Given the description of an element on the screen output the (x, y) to click on. 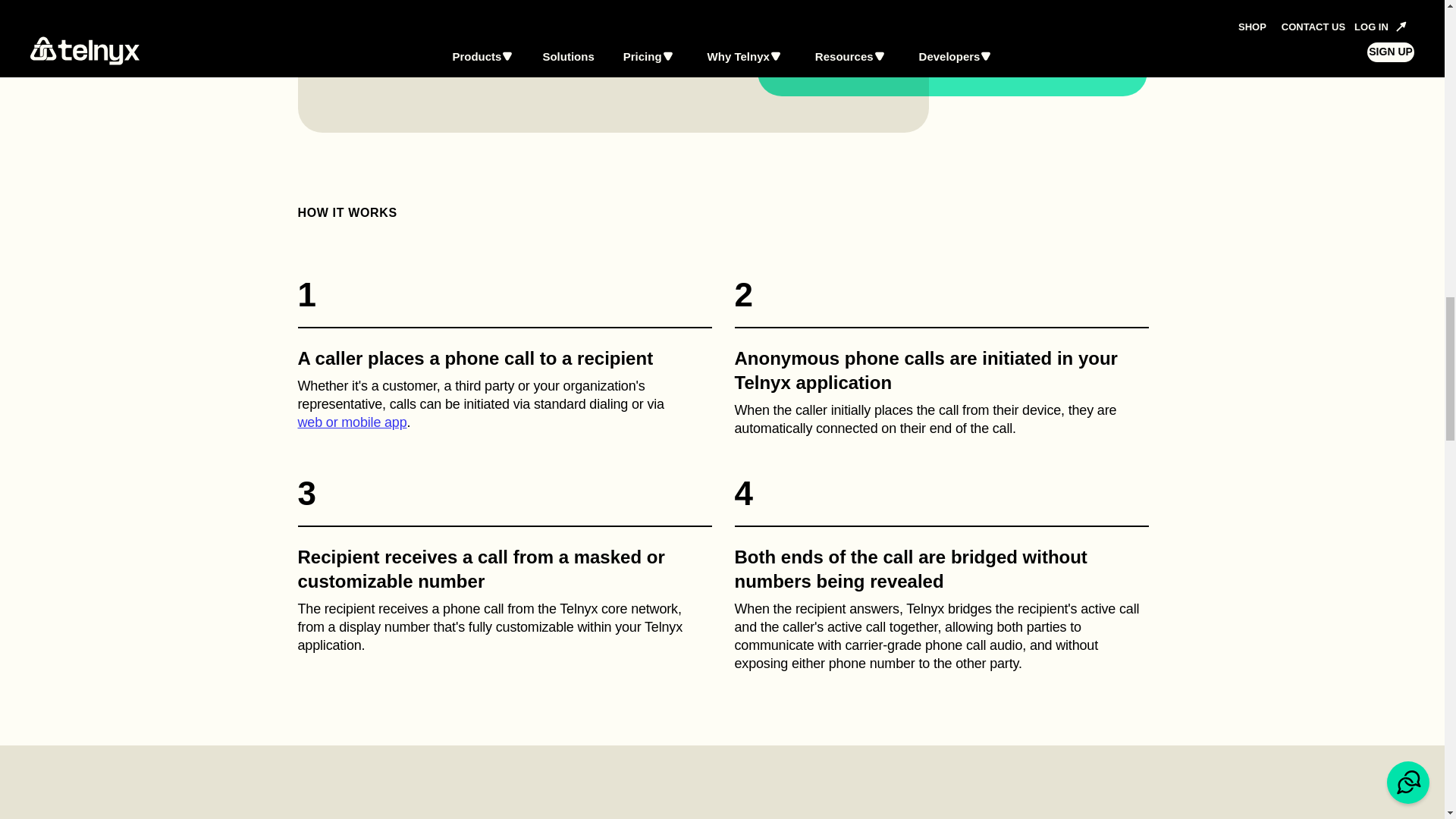
Phone number masking - How It Works 2 (940, 356)
web or mobile app (351, 421)
Phone number masking - How It Works 3 (503, 573)
Phone number masking - How It Works 4 (940, 573)
Phone number masking - How It Works 1 (503, 356)
